Given the description of an element on the screen output the (x, y) to click on. 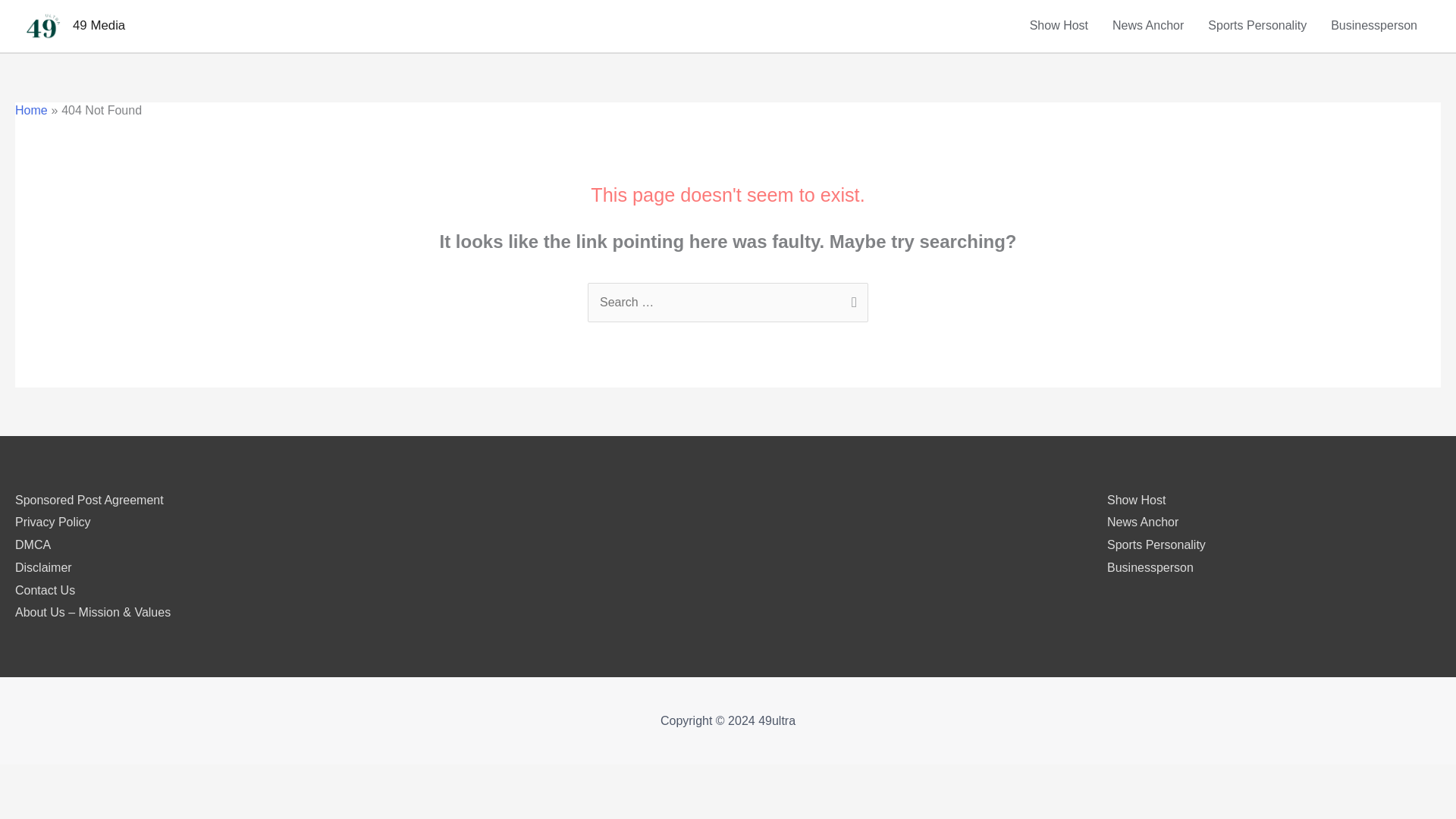
Show Host (1136, 499)
Businessperson (1374, 25)
DMCA (32, 544)
49 Media (98, 25)
Search (850, 299)
News Anchor (1147, 25)
Contact Us (44, 590)
Sports Personality (1155, 544)
News Anchor (1141, 521)
Businessperson (1149, 567)
Search (850, 299)
Search (850, 299)
Show Host (1058, 25)
Sponsored Post Agreement (88, 499)
Disclaimer (42, 567)
